Given the description of an element on the screen output the (x, y) to click on. 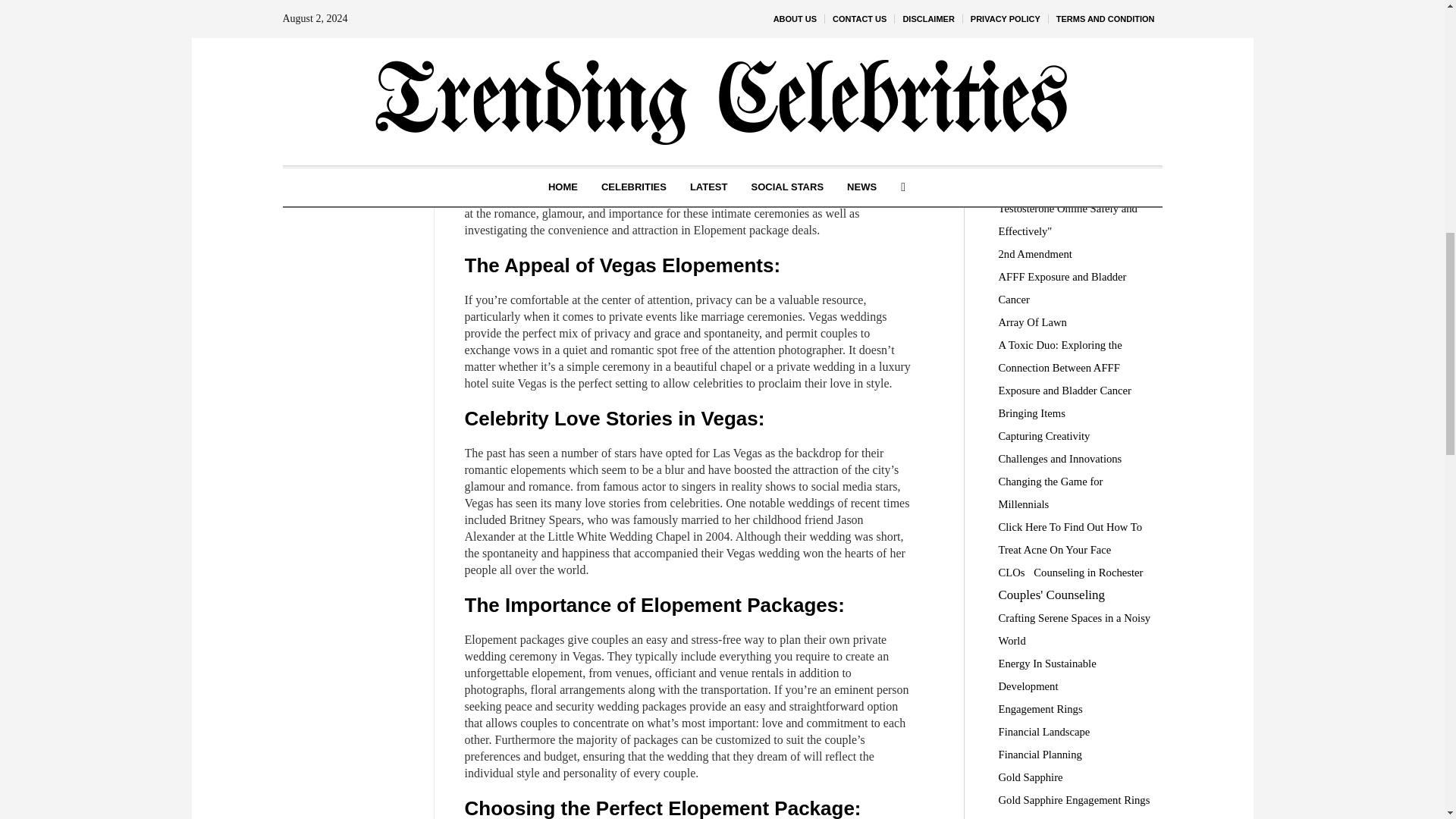
Twitter (349, 83)
Facebook (349, 60)
Pinterest (349, 106)
